Given the description of an element on the screen output the (x, y) to click on. 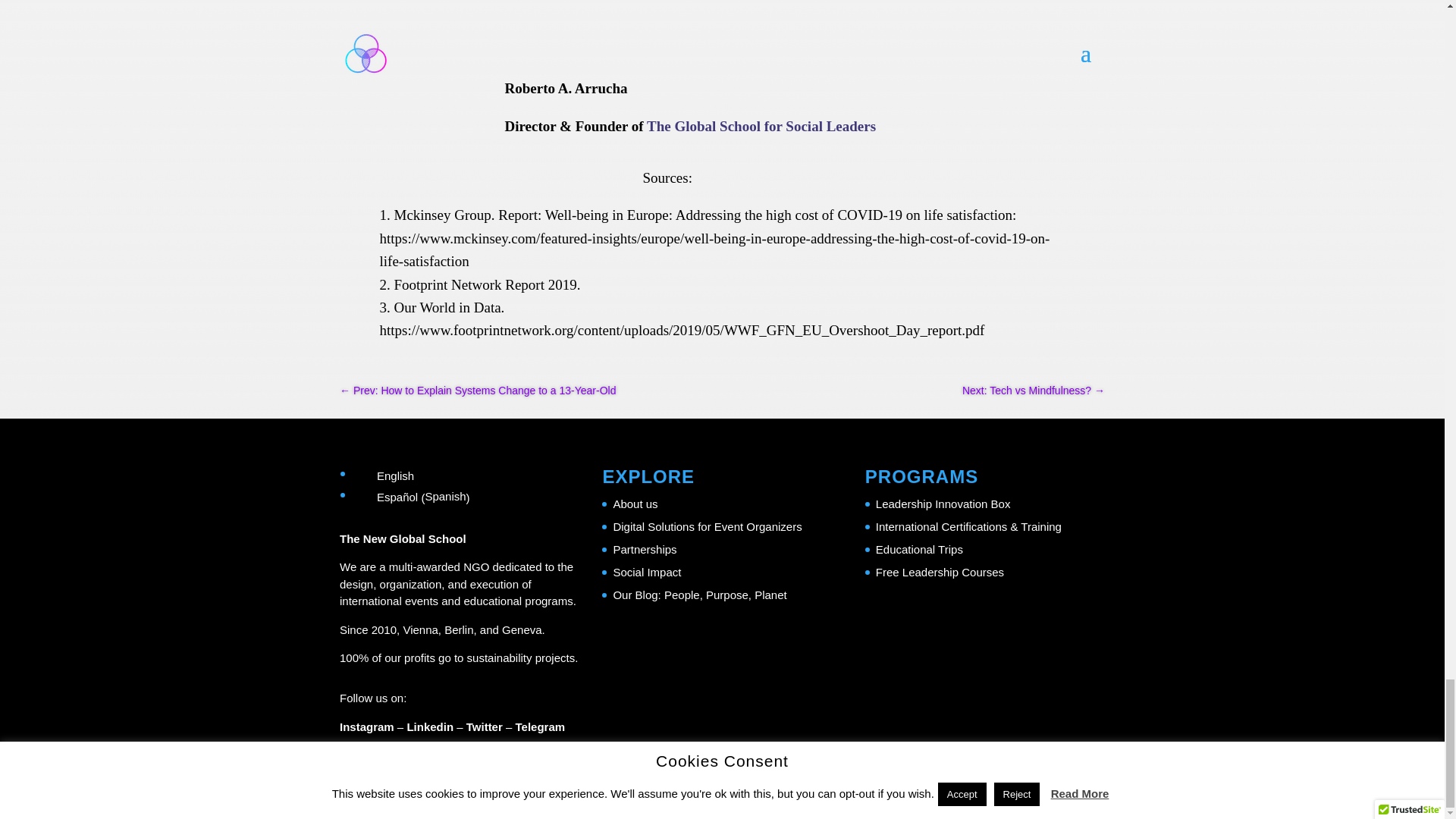
Partnerships (644, 549)
English (413, 476)
Happiness of Europe - Roberto A. Arrucha (435, 119)
Social Impact (646, 571)
About us (635, 503)
Linkedin (429, 726)
Leadership Innovation Box (943, 503)
Instagram (366, 726)
Telegram (540, 726)
Digital Solutions for Event Organizers (707, 526)
Educational Trips (919, 549)
The Global School for Social Leaders (761, 125)
Twitter (483, 726)
Our Blog: People, Purpose, Planet (699, 594)
Free Leadership Courses (940, 571)
